Given the description of an element on the screen output the (x, y) to click on. 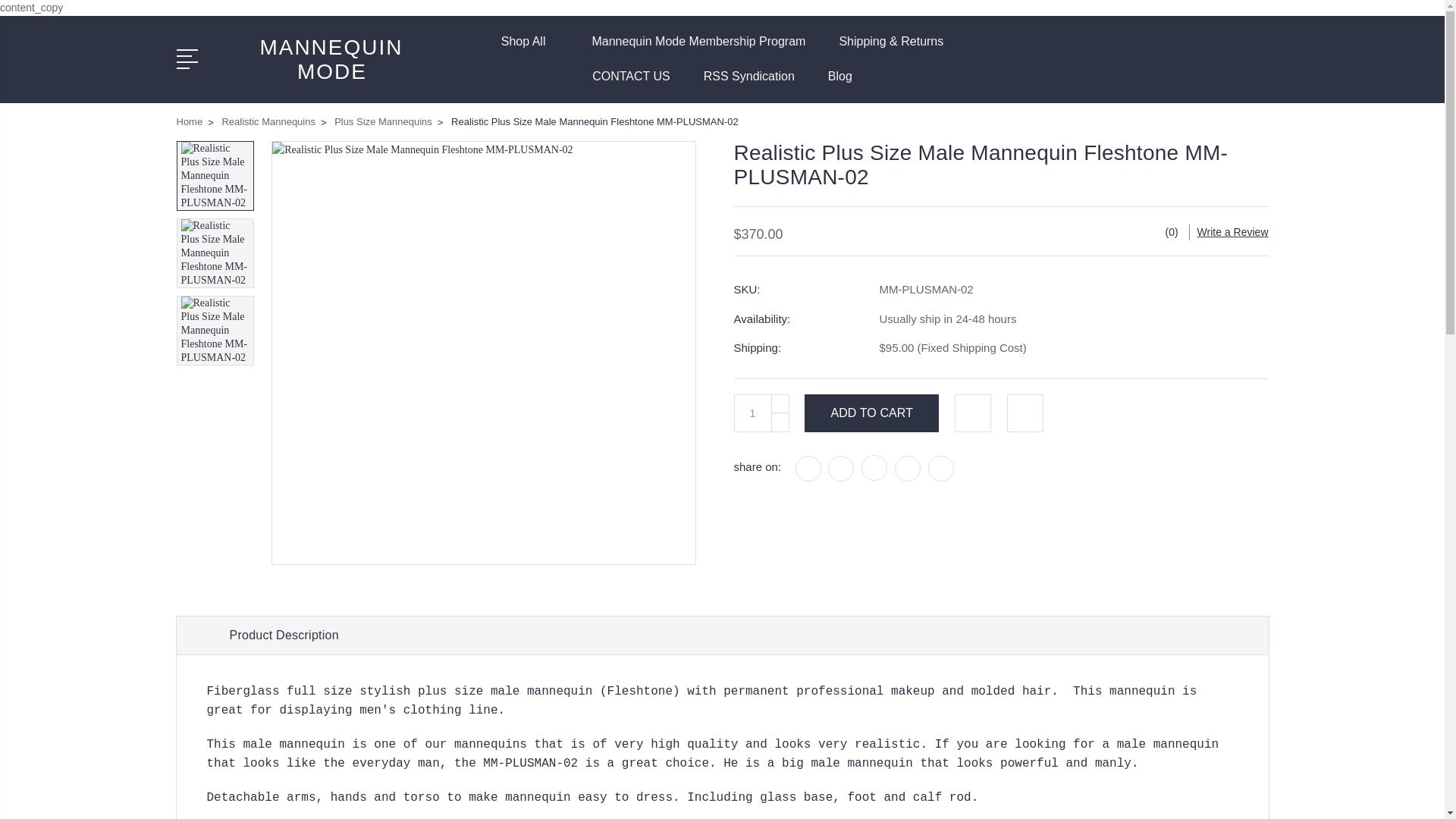
Compare (1168, 67)
Realistic Plus Size Male Mannequin Fleshtone MM-PLUSMAN-02 (214, 252)
Realistic Plus Size Male Mannequin Fleshtone MM-PLUSMAN-02 (214, 174)
MANNEQUIN MODE (331, 59)
Shop All (529, 50)
1 (752, 412)
Add to Cart (872, 412)
Realistic Plus Size Male Mannequin Fleshtone MM-PLUSMAN-02 (214, 329)
